Given the description of an element on the screen output the (x, y) to click on. 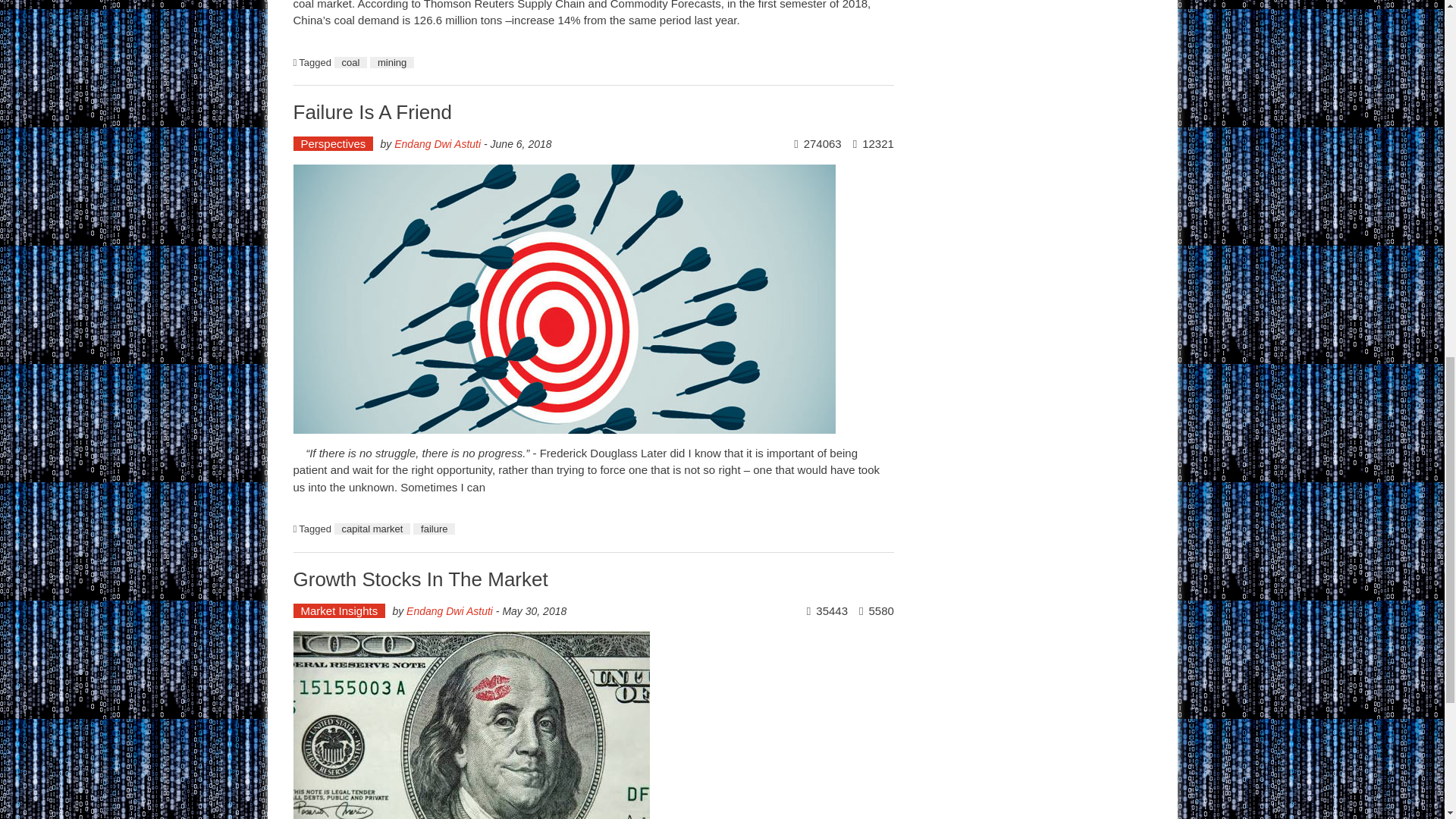
Failure Is A Friend (371, 111)
Growth Stocks In The Market (419, 579)
coal (351, 61)
Market Insights (338, 610)
failure (433, 528)
Endang Dwi Astuti (449, 611)
capital market (372, 528)
Endang Dwi Astuti (437, 143)
mining (391, 61)
Perspectives (332, 143)
